Given the description of an element on the screen output the (x, y) to click on. 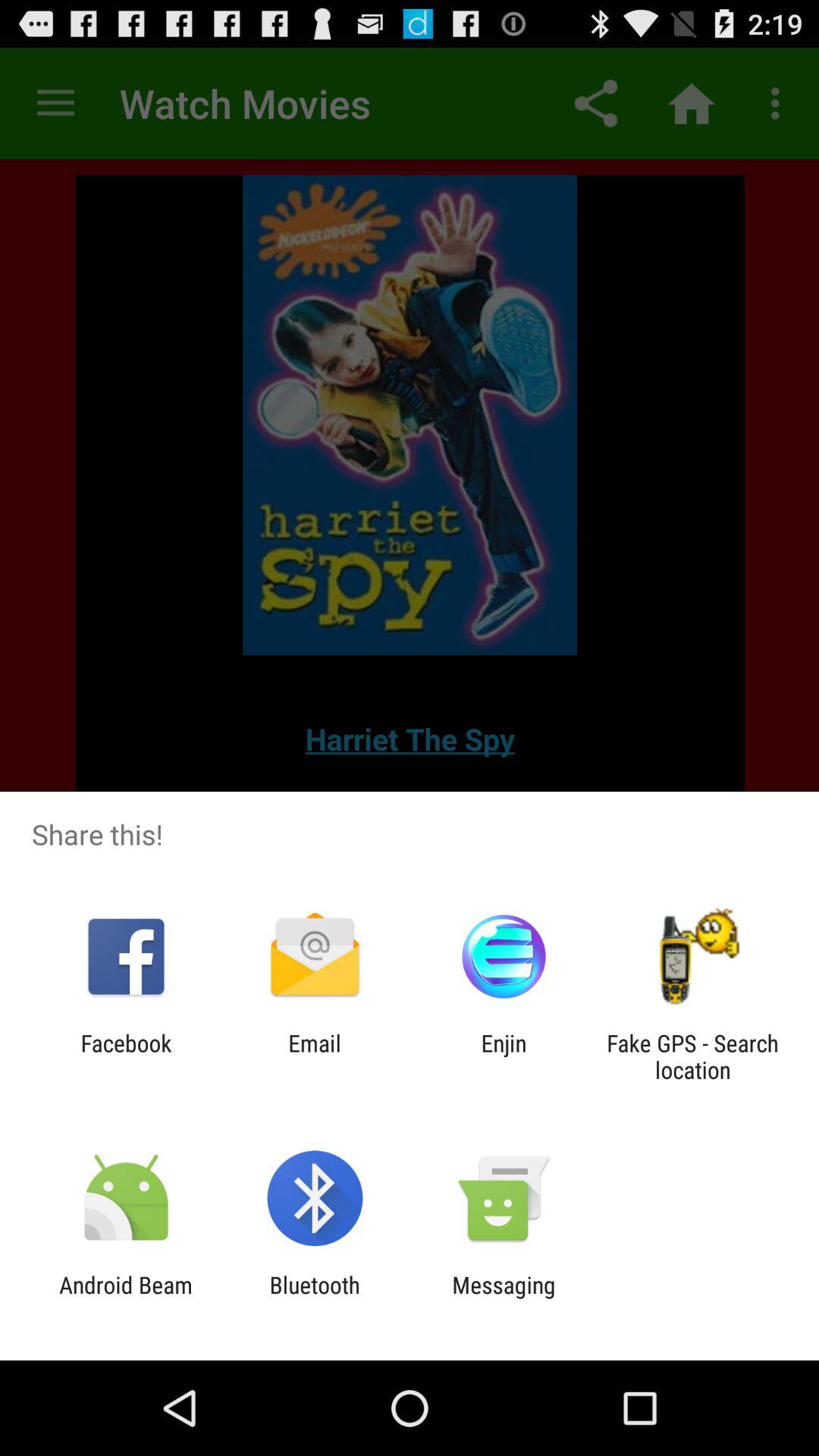
turn on item to the right of the android beam icon (314, 1298)
